Given the description of an element on the screen output the (x, y) to click on. 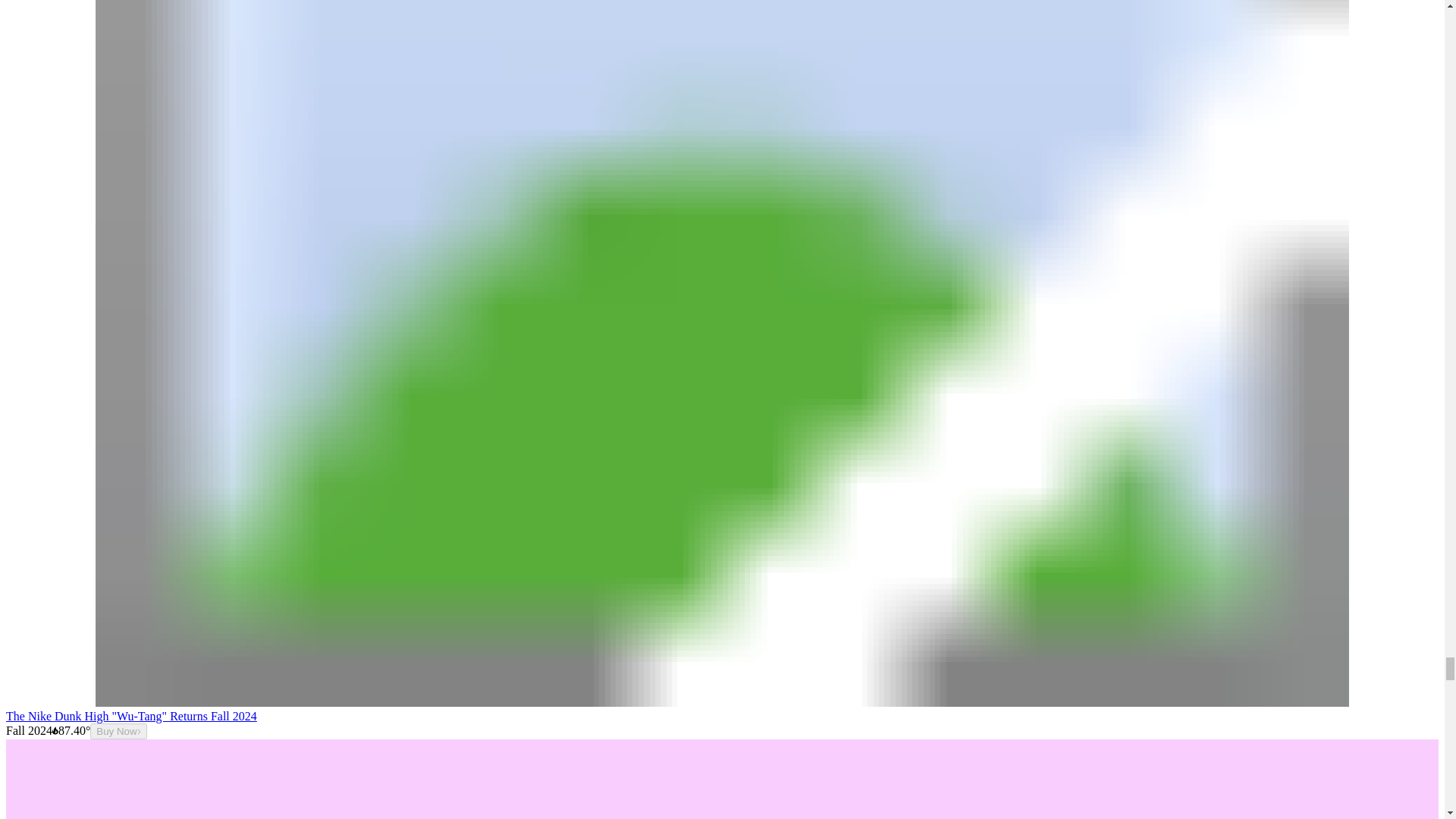
Buy Now (118, 731)
The Nike Dunk High "Wu-Tang" Returns Fall 2024 (131, 716)
